Given the description of an element on the screen output the (x, y) to click on. 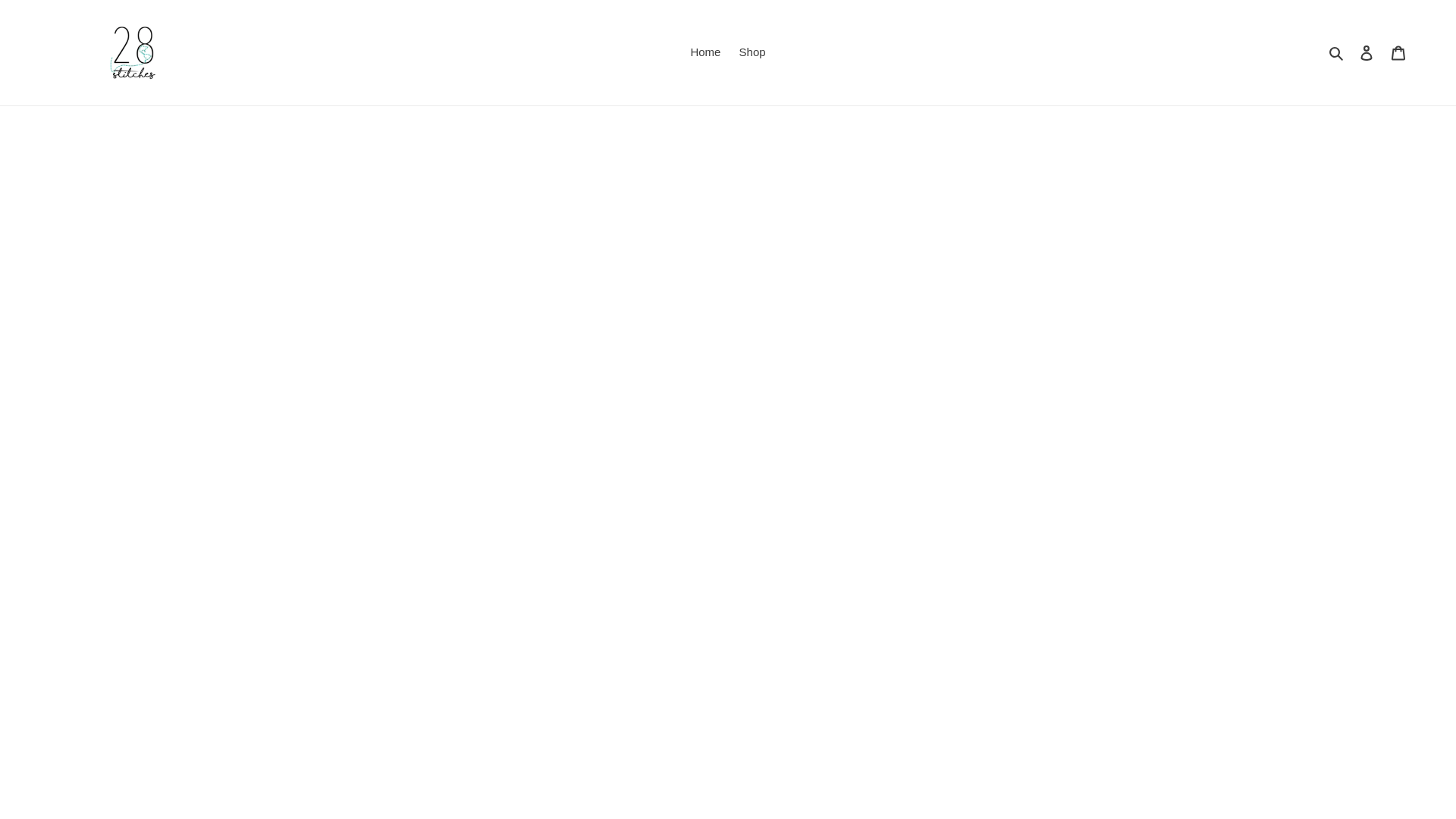
Home Element type: text (705, 52)
Log in Element type: text (1366, 52)
Search Element type: text (1337, 52)
Cart Element type: text (1398, 52)
Shop Element type: text (752, 52)
